Given the description of an element on the screen output the (x, y) to click on. 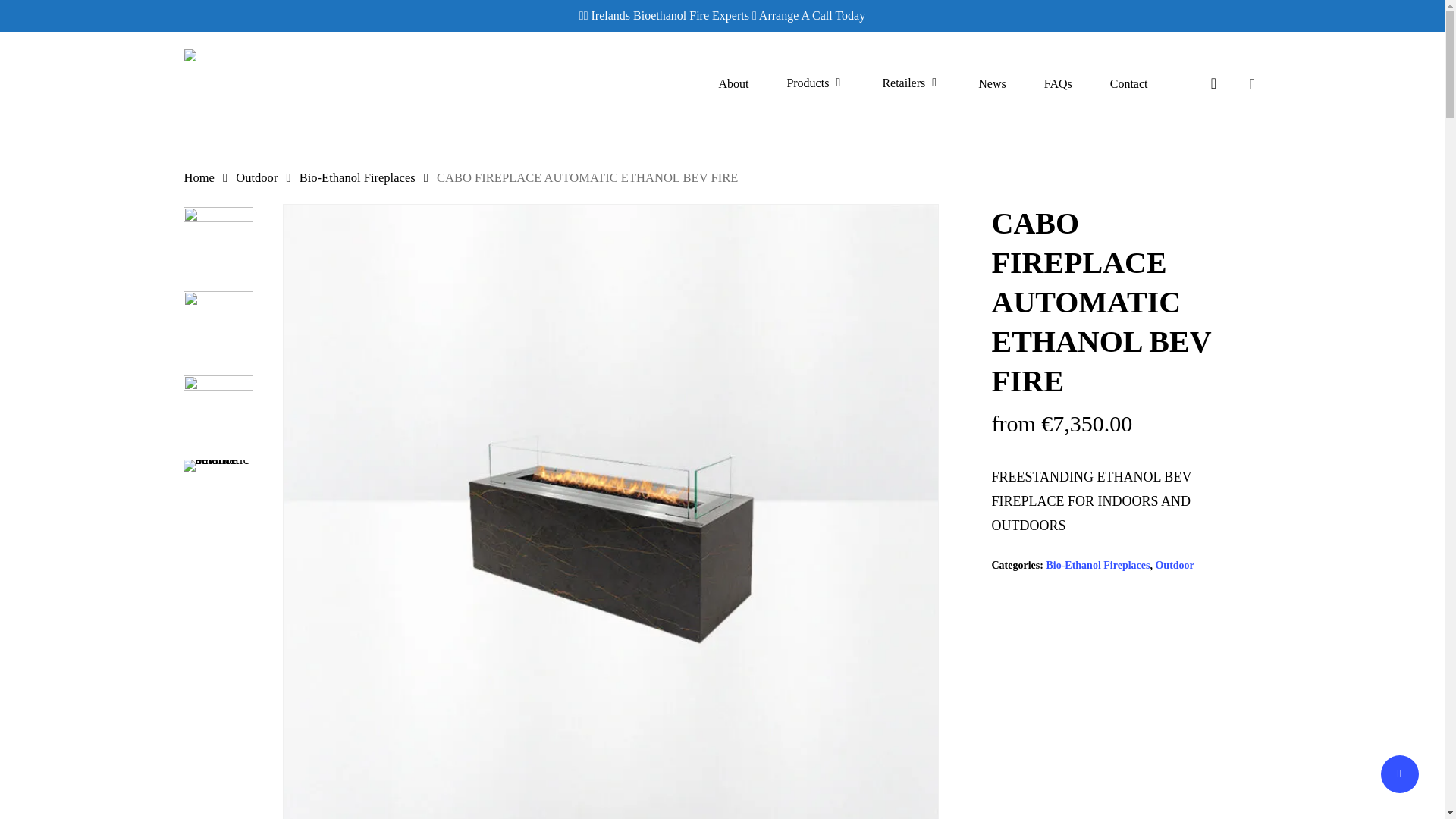
About (732, 82)
Products (815, 83)
search (1213, 83)
Retailers (911, 83)
Bio-Ethanol Fireplaces (356, 177)
Bio-Ethanol Fireplaces (1097, 564)
FAQs (1057, 82)
Outdoor (1173, 564)
Outdoor (256, 177)
Home (198, 177)
Contact (1128, 82)
News (992, 82)
